Given the description of an element on the screen output the (x, y) to click on. 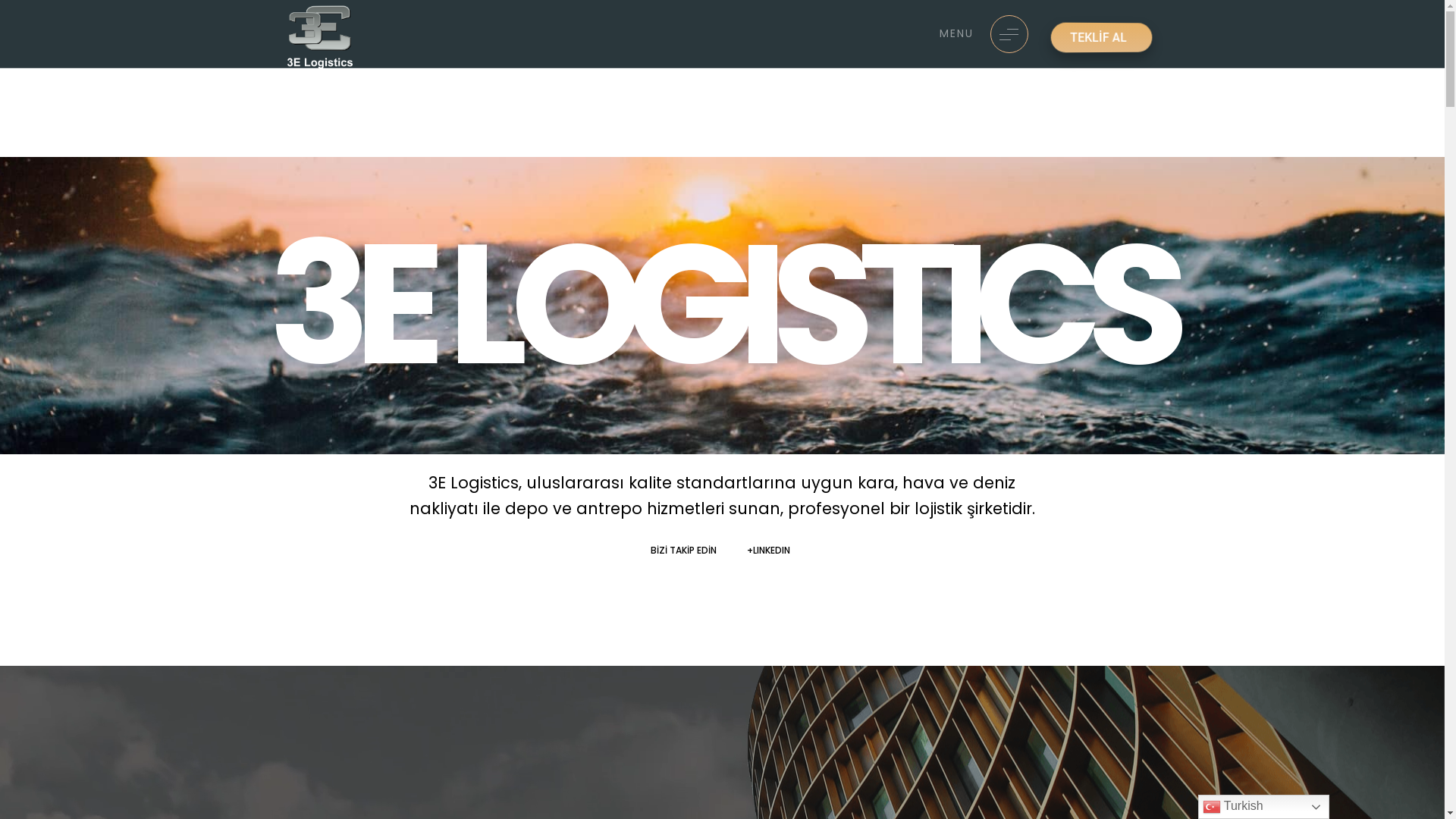
+LINKEDIN Element type: text (770, 550)
